Given the description of an element on the screen output the (x, y) to click on. 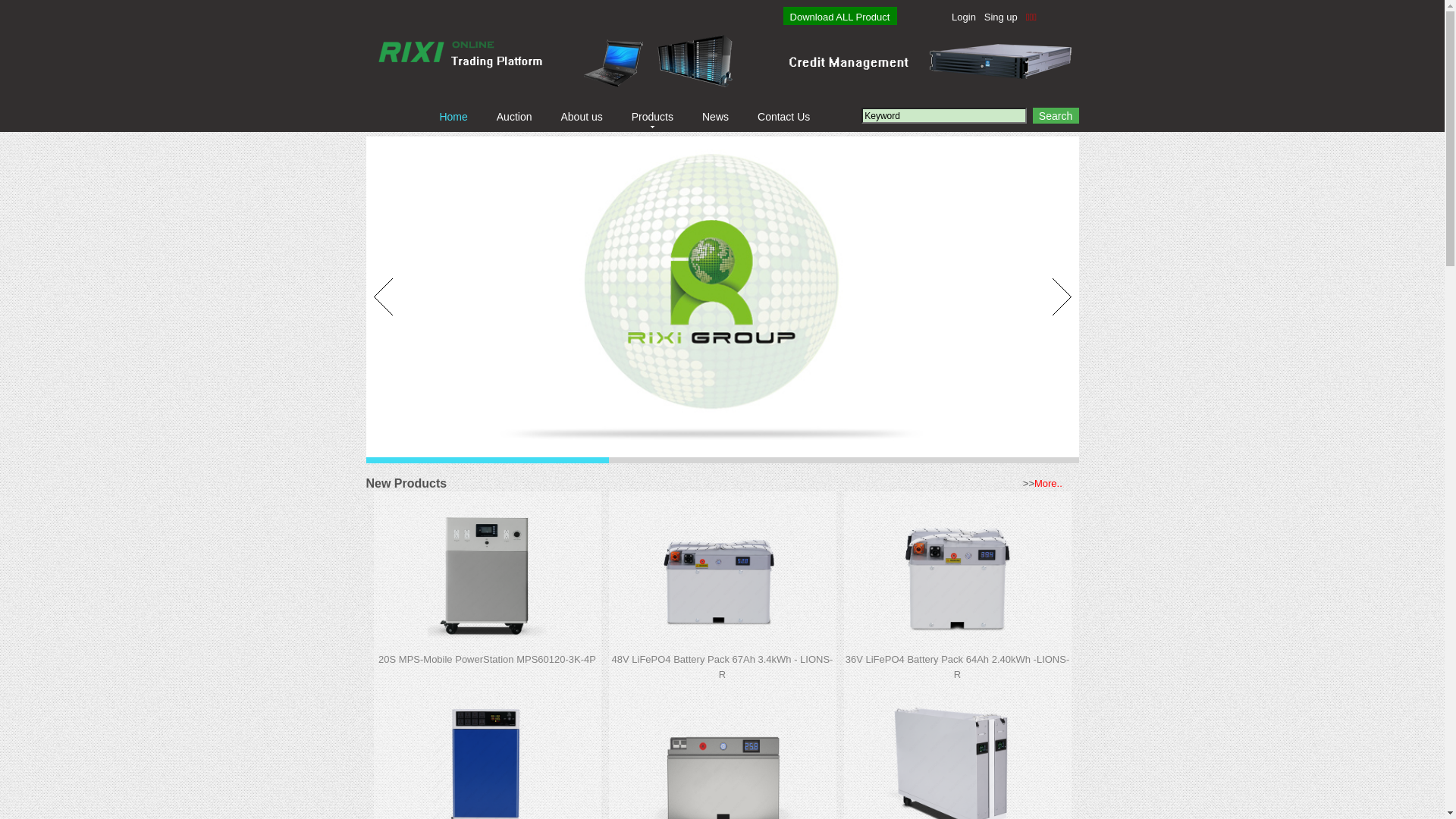
Login Element type: text (963, 16)
Products Element type: text (652, 116)
Home Element type: text (453, 116)
Sing up Element type: text (1000, 16)
About us Element type: text (581, 116)
>>More.. Element type: text (1042, 483)
Search Element type: text (1055, 115)
Contact Us Element type: text (783, 116)
News Element type: text (715, 116)
Auction Element type: text (514, 116)
20S MPS-Mobile PowerStation MPS60120-3K-4P Element type: text (487, 659)
48V LiFePO4 Battery Pack 67Ah 3.4kWh - LIONS-R Element type: text (722, 666)
Download ALL Product Element type: text (840, 16)
36V LiFePO4 Battery Pack 64Ah 2.40kWh -LIONS-R Element type: text (957, 666)
